Given the description of an element on the screen output the (x, y) to click on. 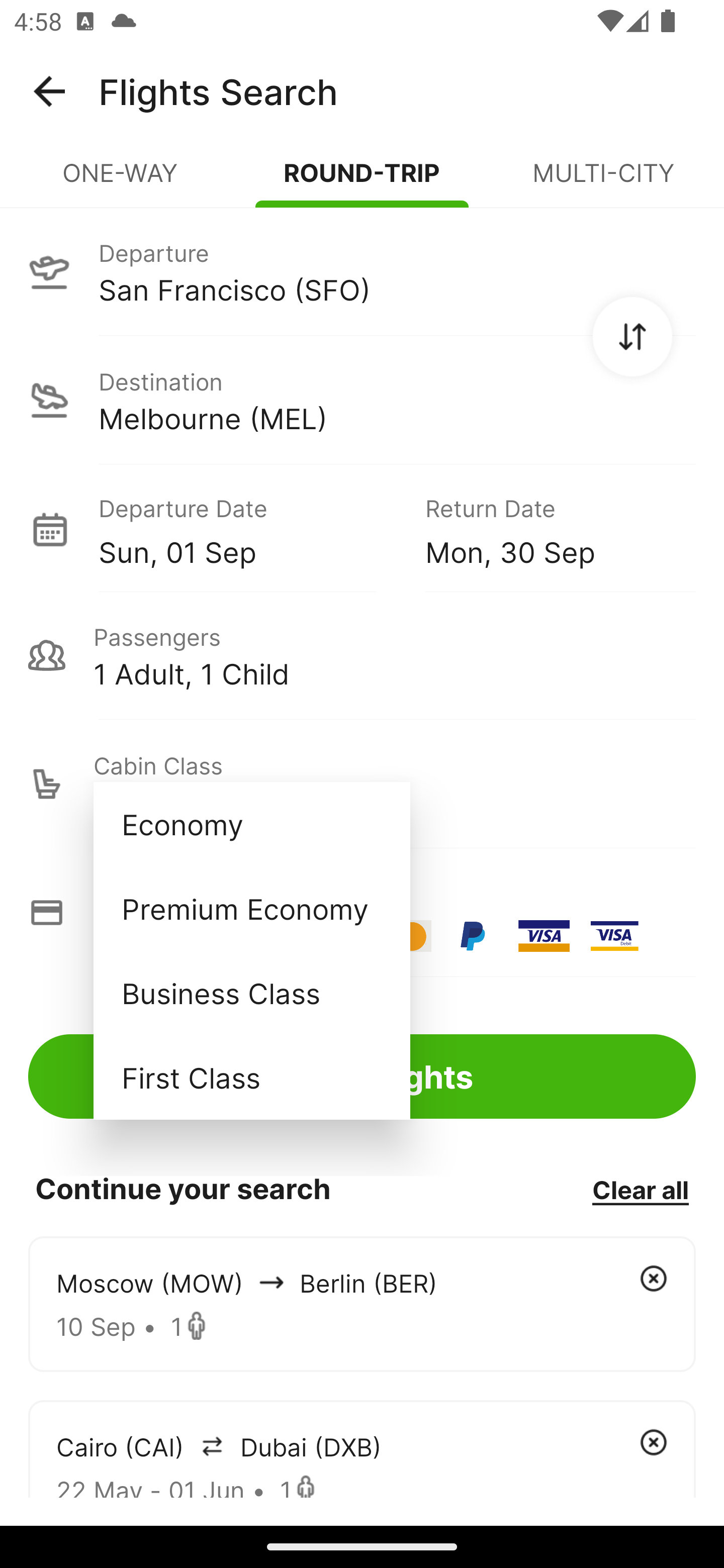
Economy (251, 824)
Premium Economy (251, 908)
Business Class (251, 992)
First Class (251, 1076)
